Given the description of an element on the screen output the (x, y) to click on. 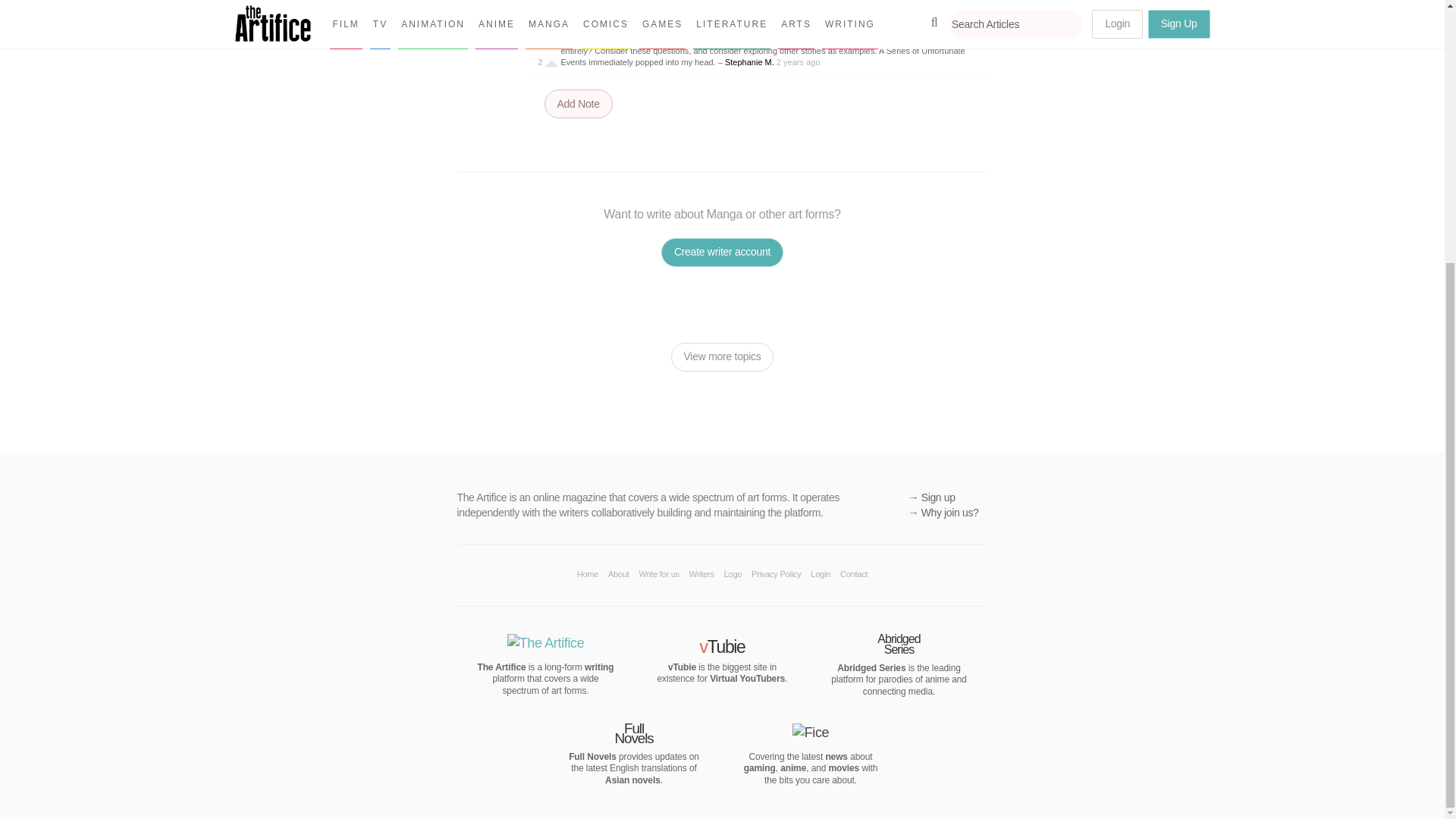
The Artifice (599, 666)
The Artifice (501, 666)
Stephanie M. (749, 61)
The Artifice (545, 642)
